Given the description of an element on the screen output the (x, y) to click on. 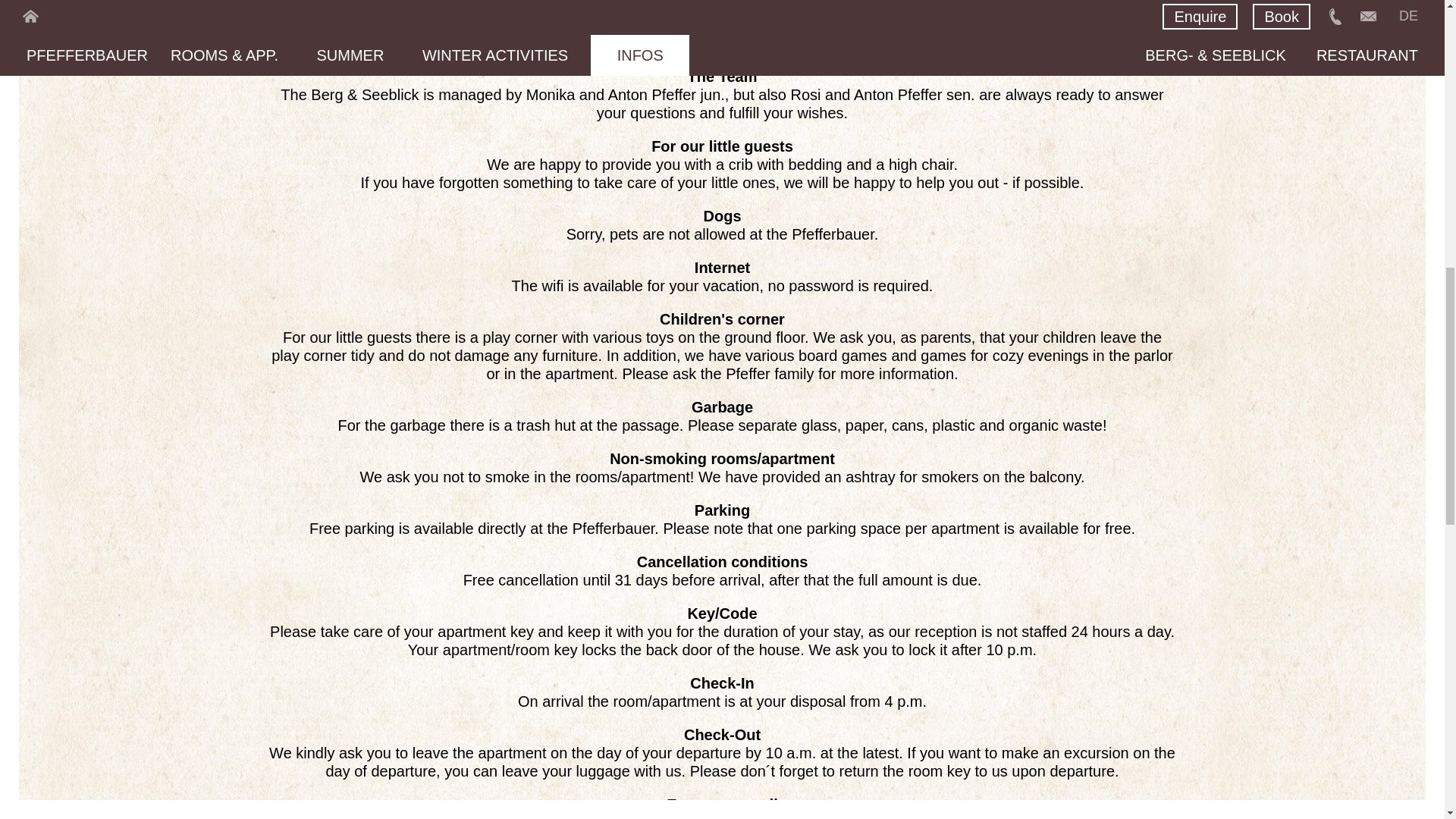
Book (1058, 34)
Enquire (955, 34)
